Given the description of an element on the screen output the (x, y) to click on. 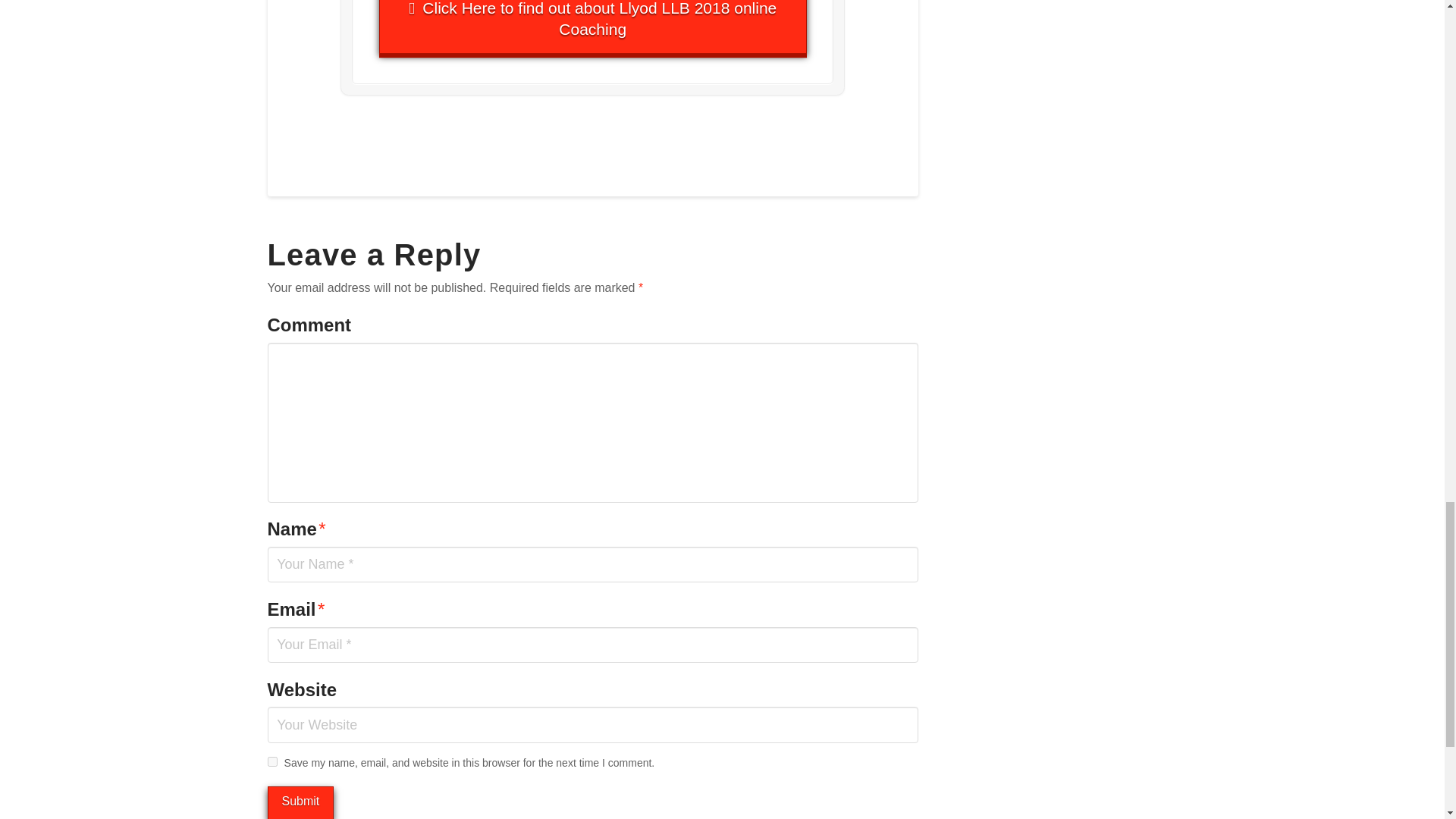
Submit (299, 802)
Click Here to find out about Llyod LLB 2018 online Coaching (592, 26)
yes (271, 761)
